Given the description of an element on the screen output the (x, y) to click on. 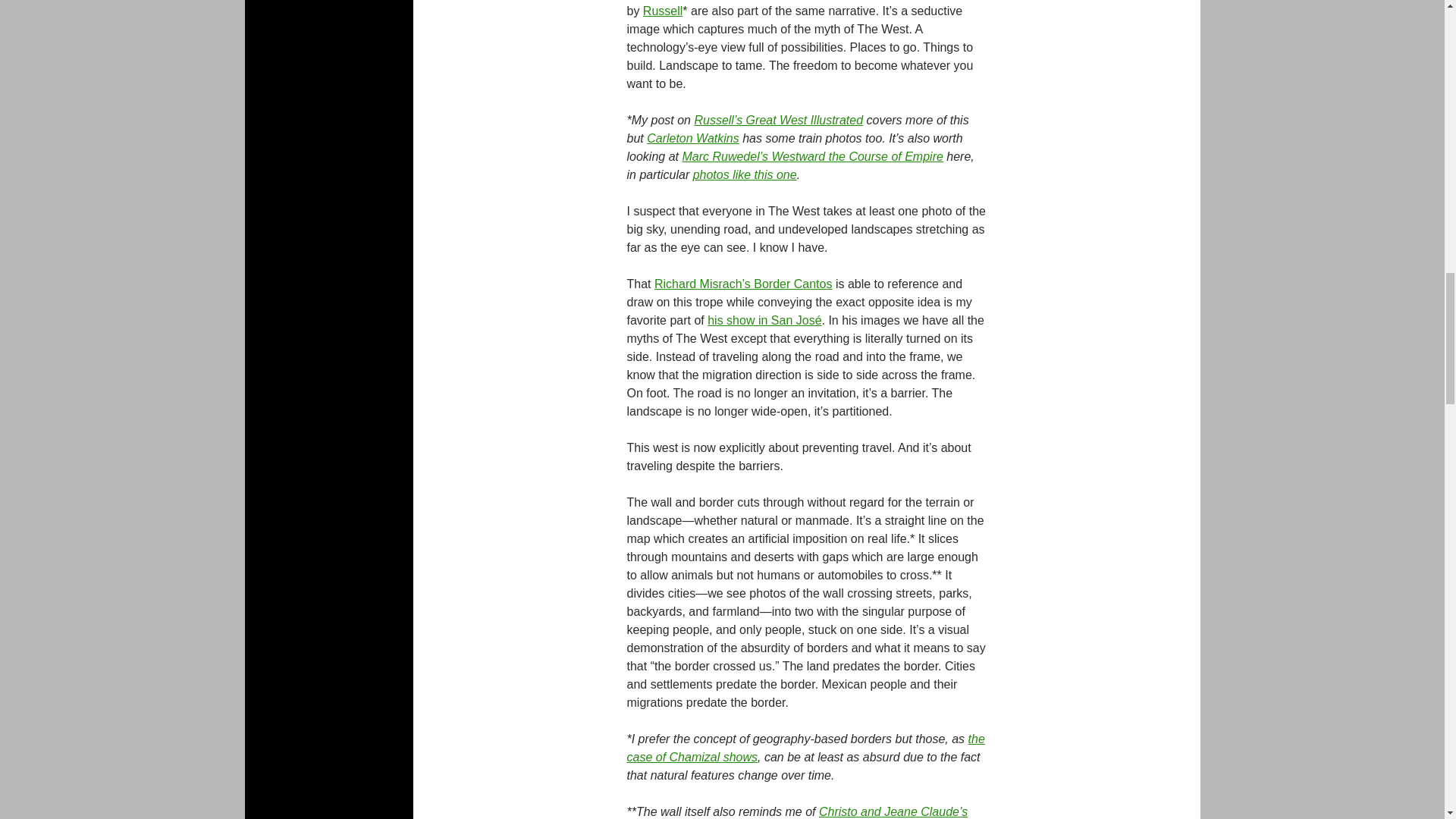
Russell (662, 10)
the case of Chamizal shows (805, 747)
photos like this one (744, 174)
Carleton Watkins (692, 137)
